Given the description of an element on the screen output the (x, y) to click on. 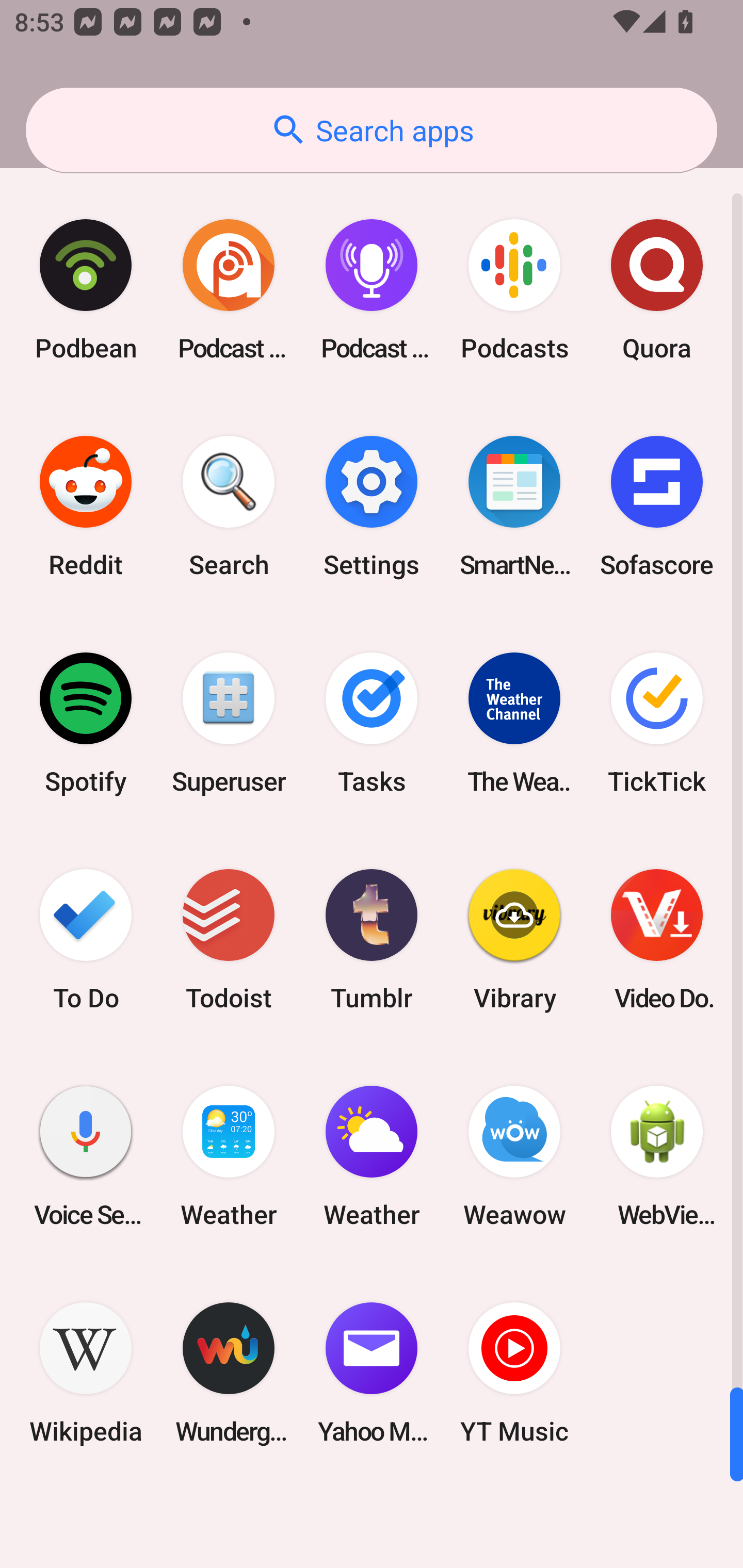
  Search apps (371, 130)
Podbean (85, 289)
Podcast Addict (228, 289)
Podcast Player (371, 289)
Podcasts (514, 289)
Quora (656, 289)
Reddit (85, 506)
Search (228, 506)
Settings (371, 506)
SmartNews (514, 506)
Sofascore (656, 506)
Spotify (85, 722)
Superuser (228, 722)
Tasks (371, 722)
The Weather Channel (514, 722)
TickTick (656, 722)
To Do (85, 939)
Todoist (228, 939)
Tumblr (371, 939)
Vibrary (514, 939)
Video Downloader & Ace Player (656, 939)
Voice Search (85, 1156)
Weather (228, 1156)
Weather (371, 1156)
Weawow (514, 1156)
WebView Browser Tester (656, 1156)
Wikipedia (85, 1373)
Wunderground (228, 1373)
Yahoo Mail (371, 1373)
YT Music (514, 1373)
